Given the description of an element on the screen output the (x, y) to click on. 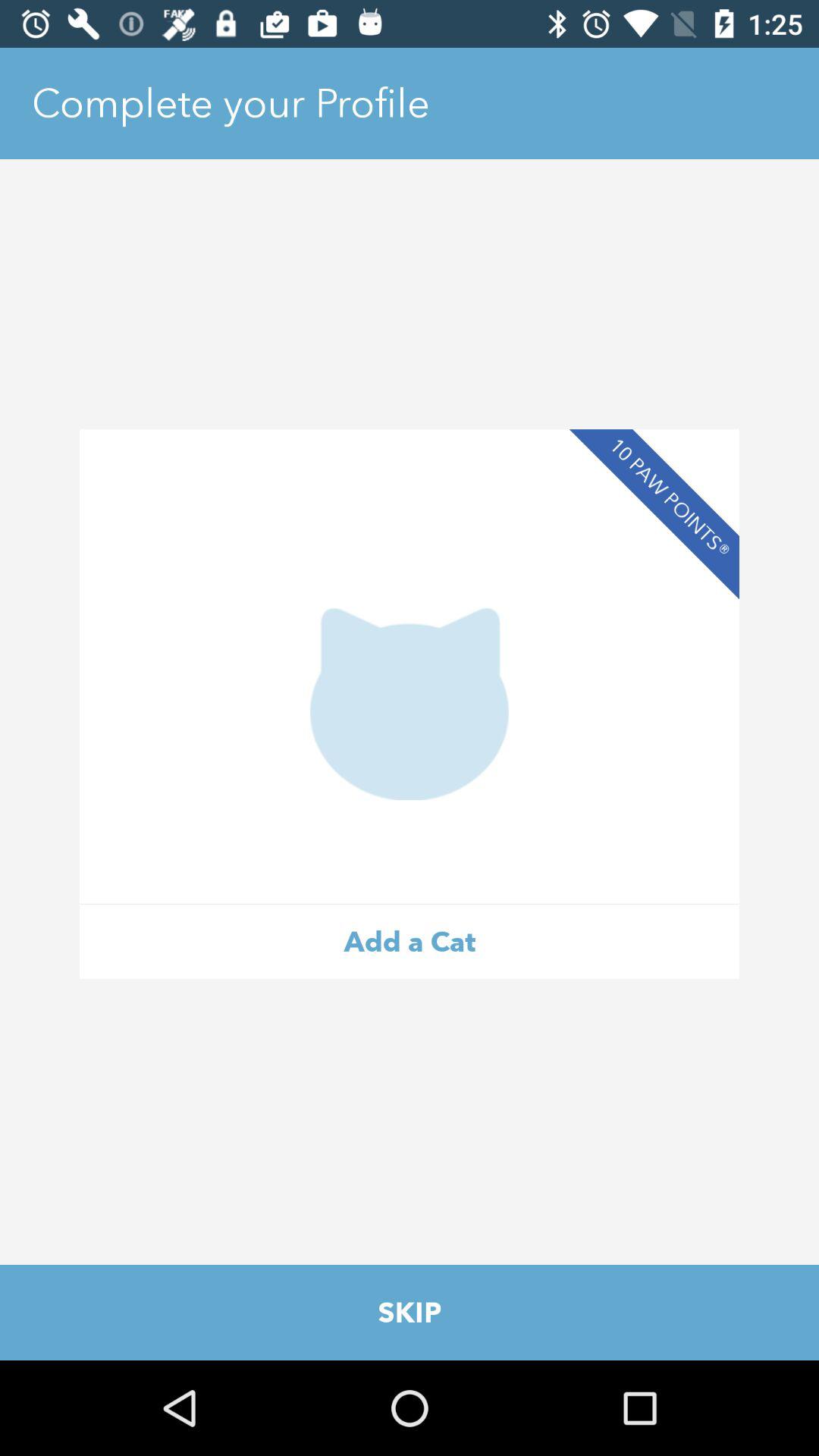
select skip item (409, 1312)
